Given the description of an element on the screen output the (x, y) to click on. 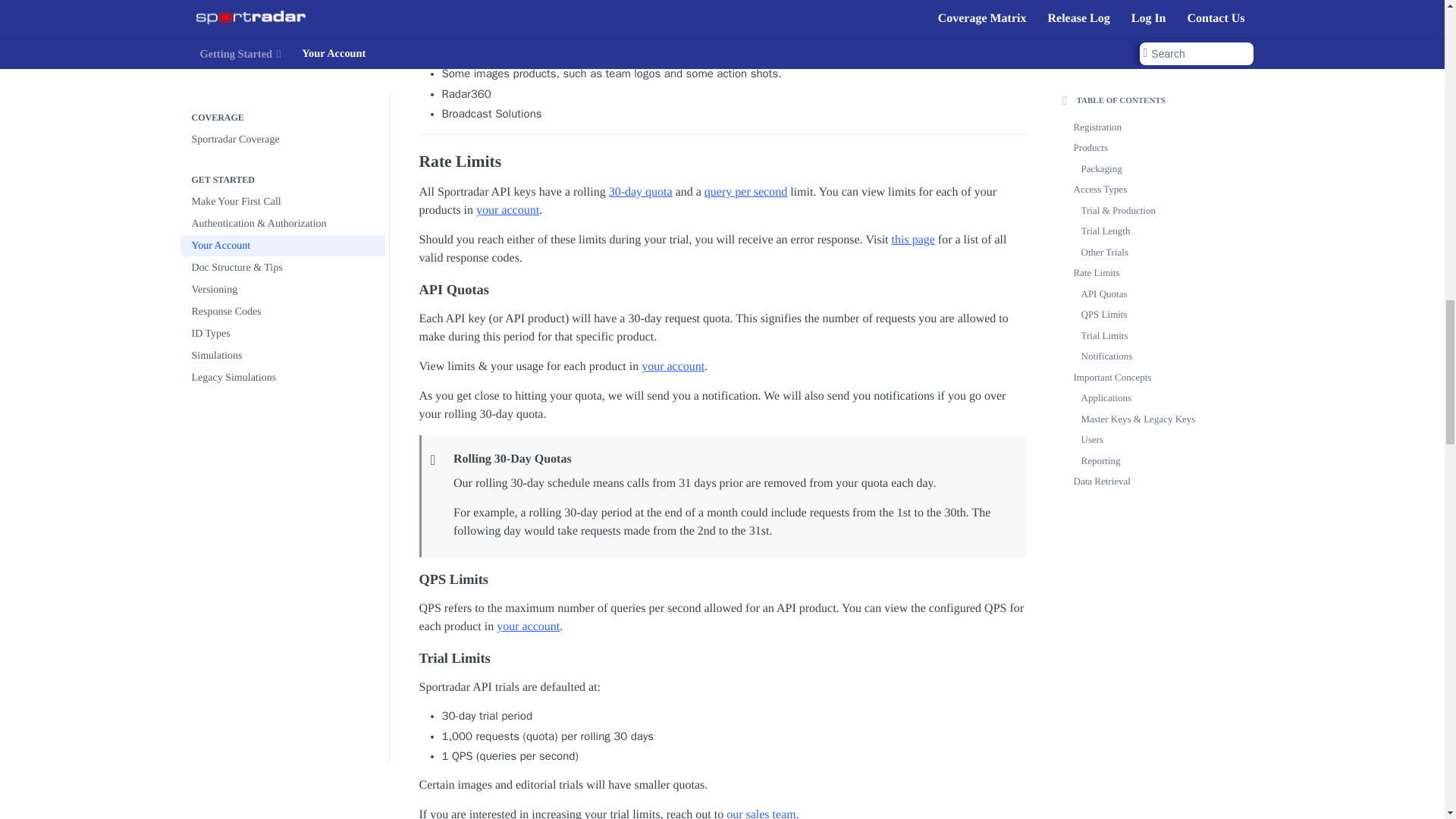
API Quotas (722, 289)
QPS Limits (722, 579)
Rate Limits (722, 161)
Trial Limits (722, 658)
